Given the description of an element on the screen output the (x, y) to click on. 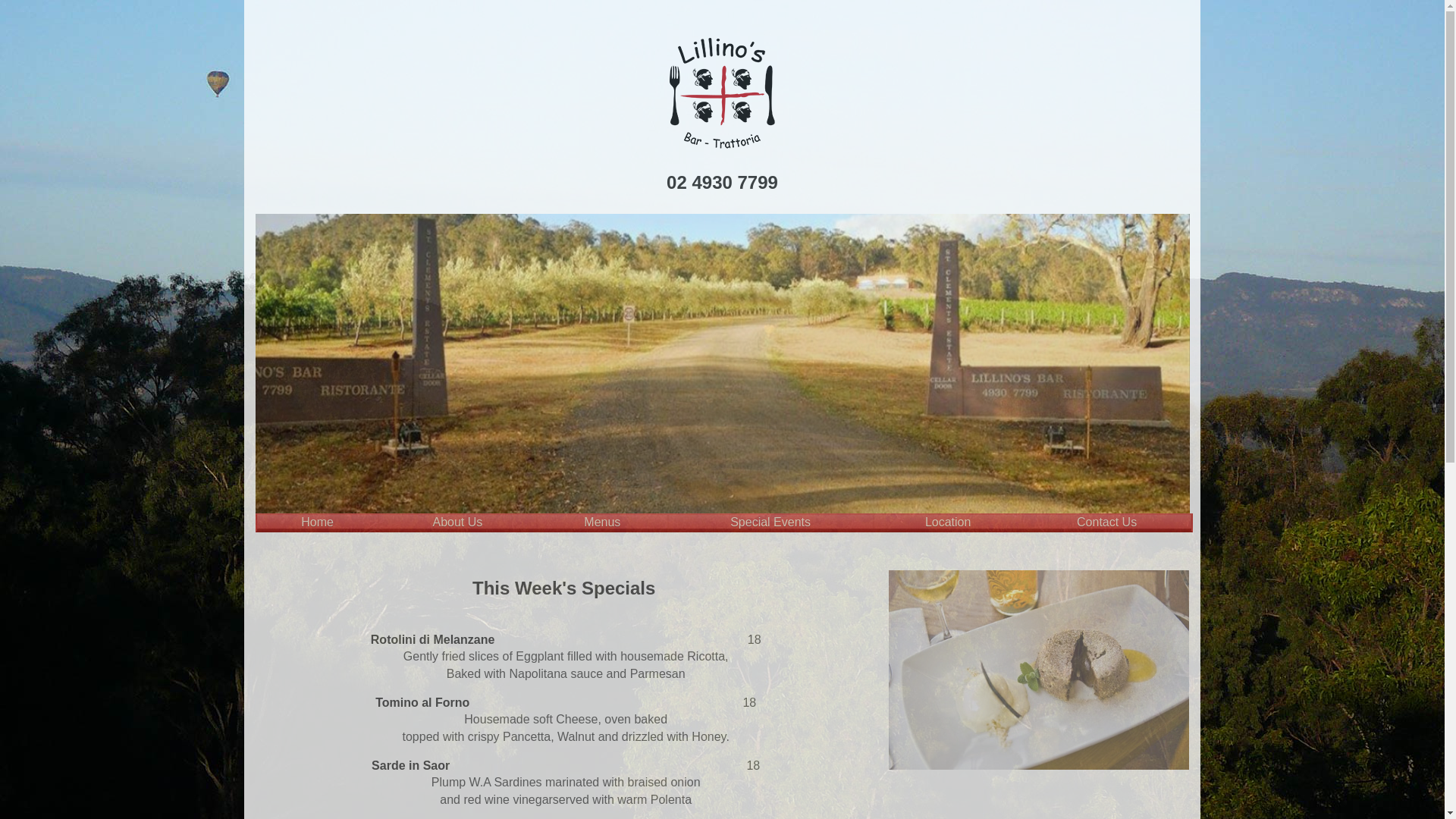
Home Element type: text (316, 522)
Location Element type: text (947, 522)
Special Events Element type: text (770, 522)
About Us Element type: text (457, 522)
Menus Element type: text (601, 522)
Contact Us Element type: text (1106, 522)
